Given the description of an element on the screen output the (x, y) to click on. 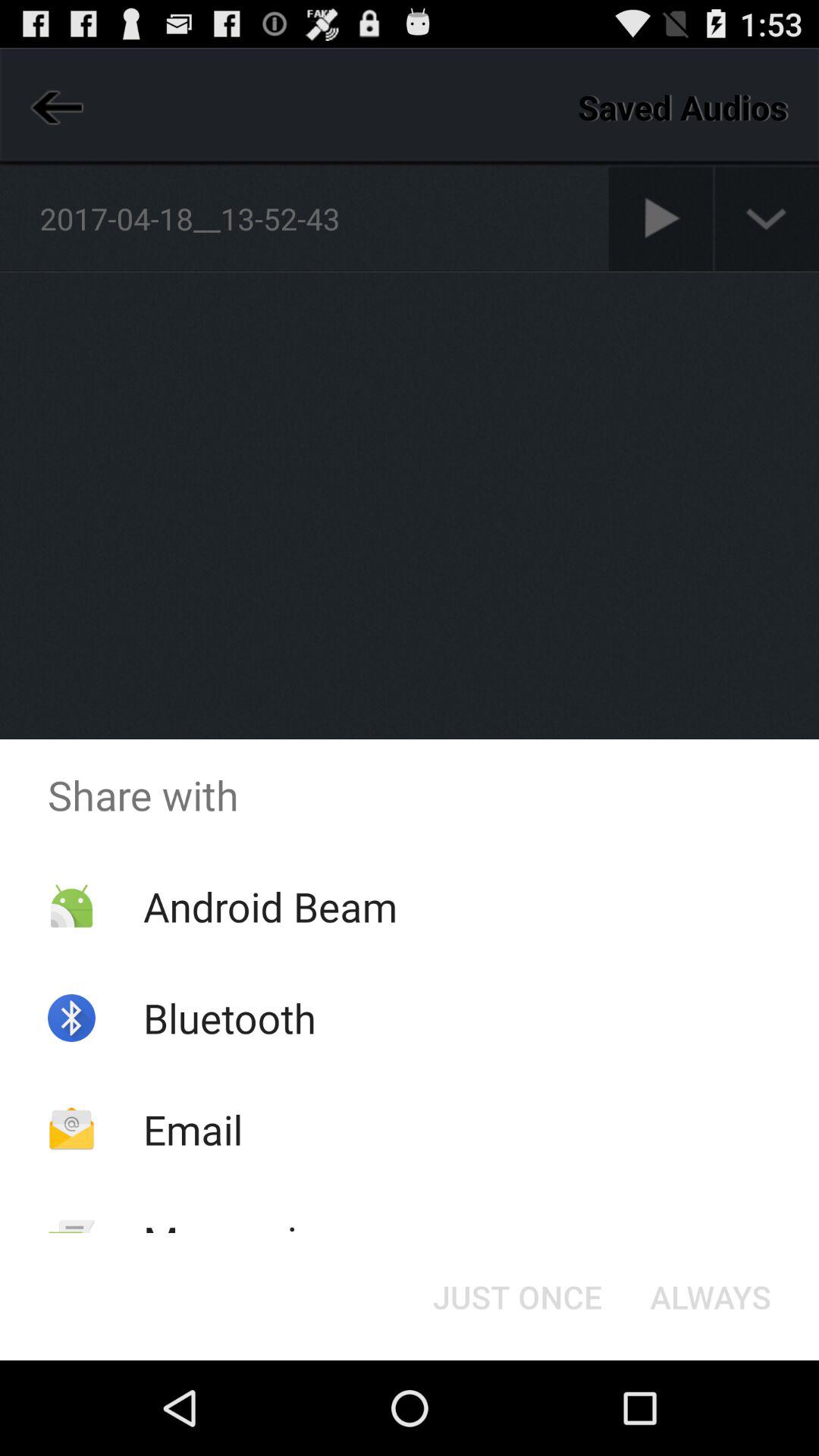
tap messaging icon (242, 1240)
